Given the description of an element on the screen output the (x, y) to click on. 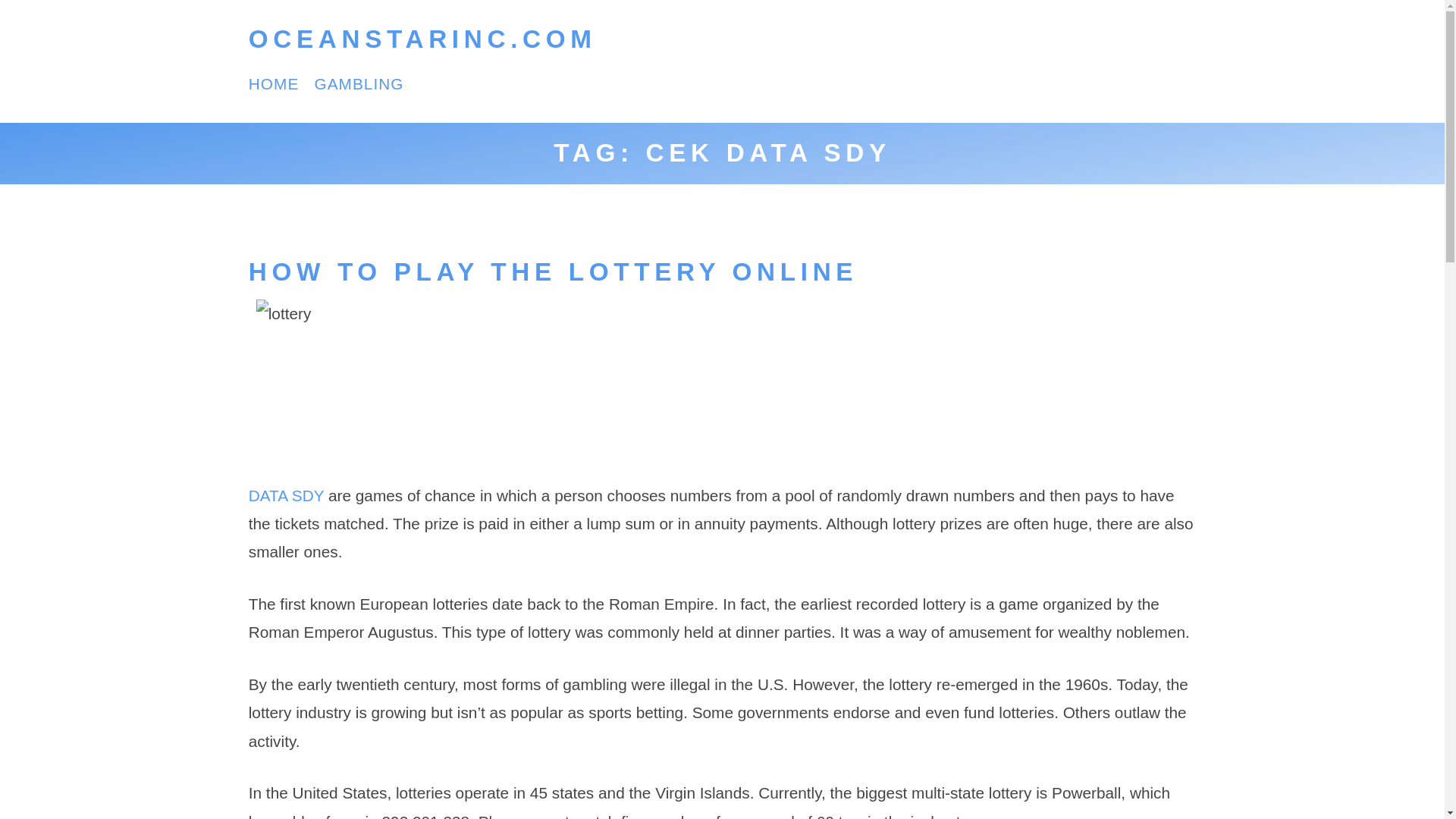
GAMBLING (358, 83)
DATA SDY (285, 495)
OCEANSTARINC.COM (422, 39)
HOW TO PLAY THE LOTTERY ONLINE (552, 271)
HOME (273, 83)
